Given the description of an element on the screen output the (x, y) to click on. 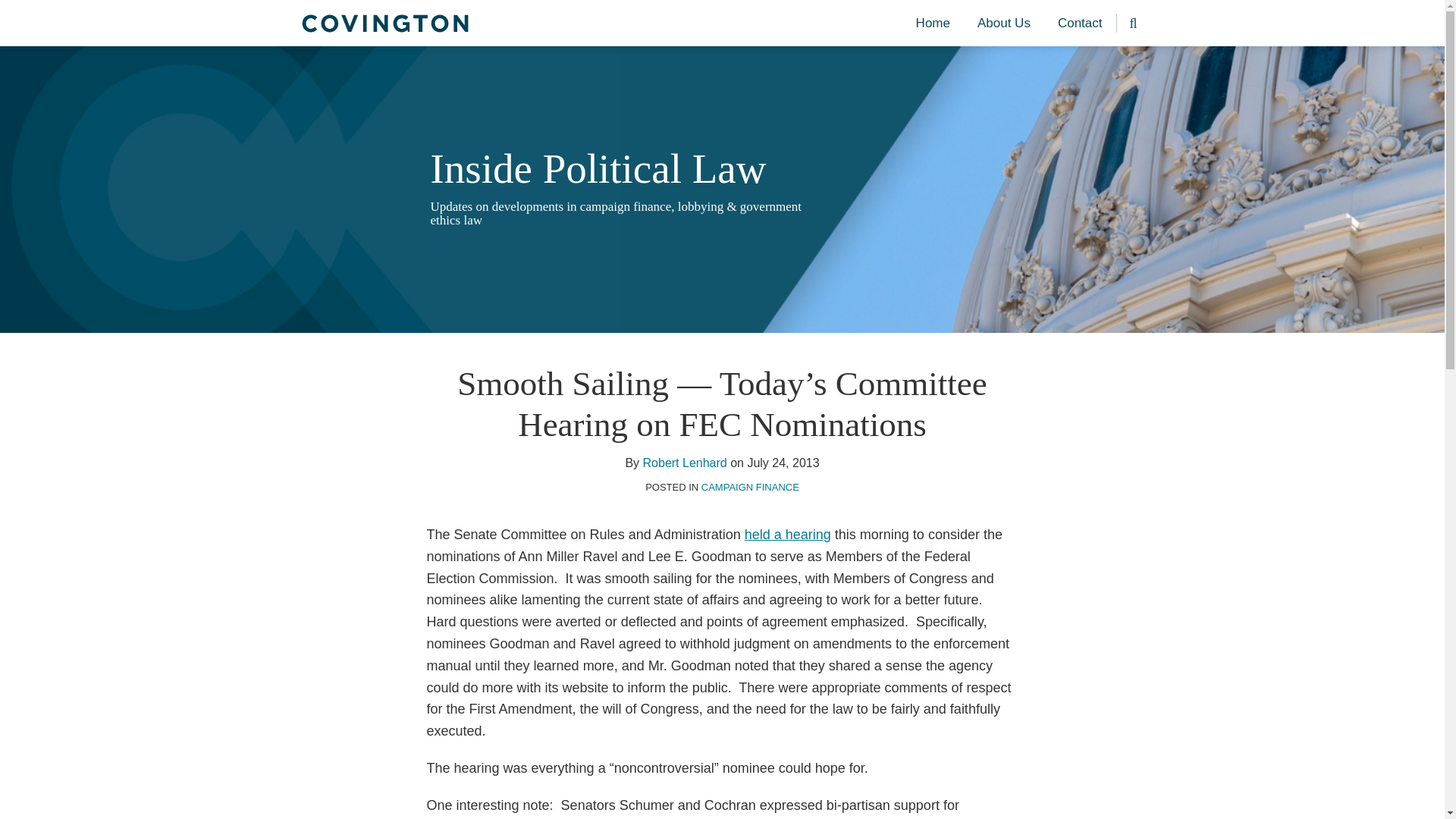
held a hearing (787, 534)
CAMPAIGN FINANCE (750, 487)
About Us (1003, 23)
Inside Political Law (598, 168)
Home (932, 23)
Contact (1080, 23)
Robert Lenhard (684, 462)
